Given the description of an element on the screen output the (x, y) to click on. 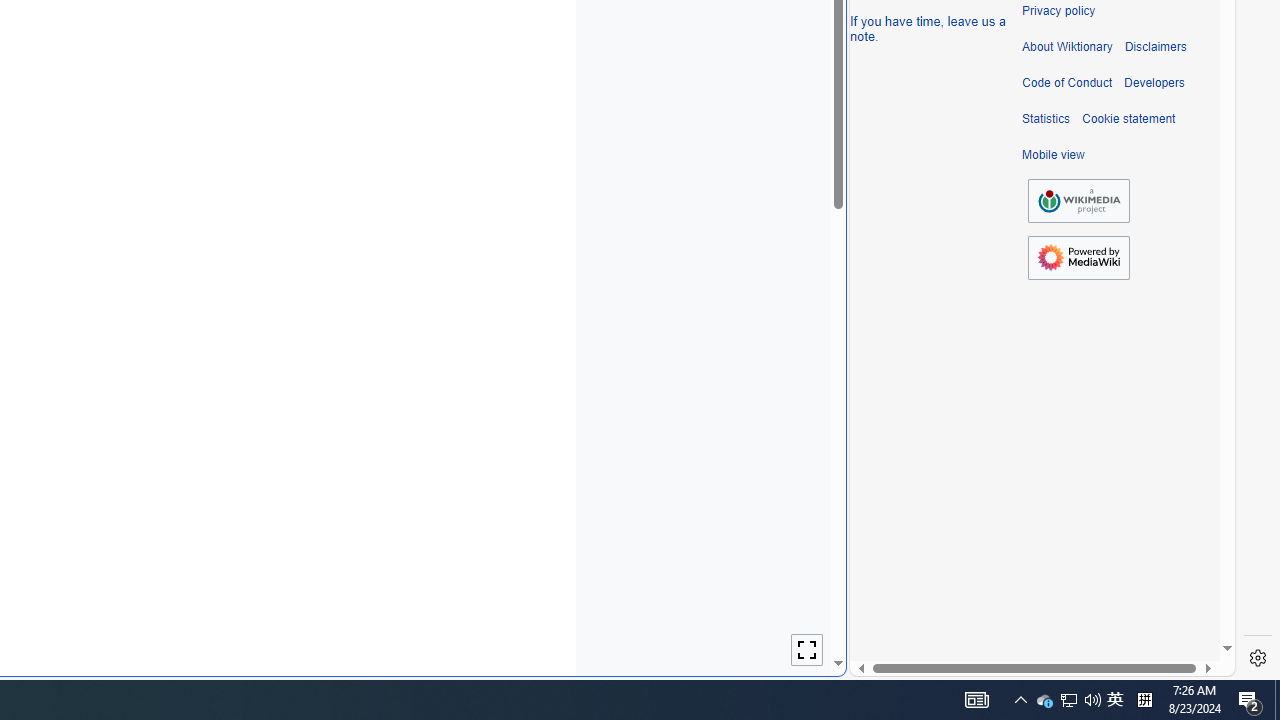
Code of Conduct (1067, 83)
Disclaimers (1154, 47)
Wikimedia Foundation (1078, 200)
If you have time, leave us a note. (927, 27)
Mobile view (1053, 155)
